Given the description of an element on the screen output the (x, y) to click on. 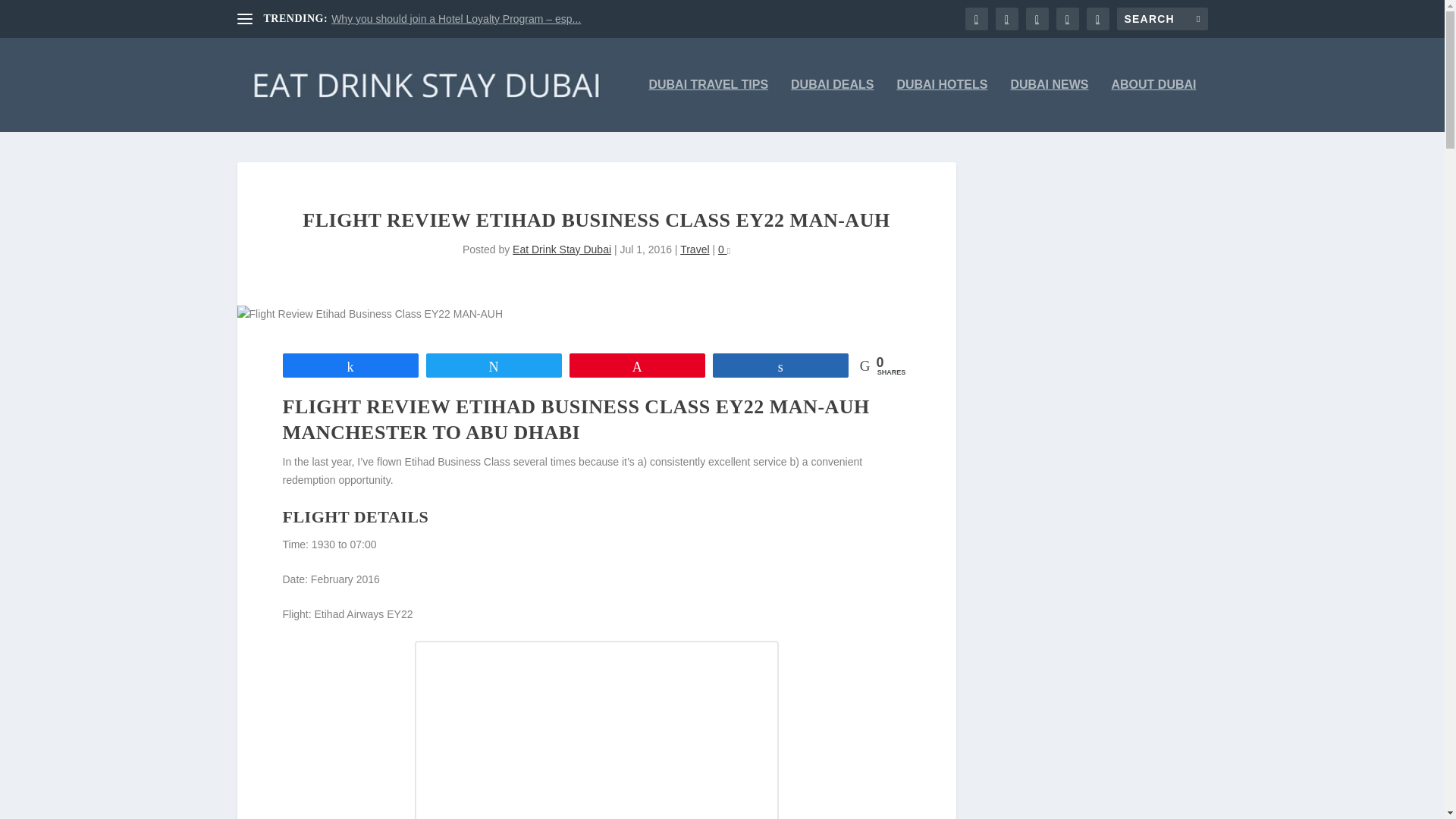
comment count (728, 251)
DUBAI NEWS (1048, 104)
Search for: (1161, 18)
DUBAI HOTELS (941, 104)
Eat Drink Stay Dubai (561, 249)
Posts by Eat Drink Stay Dubai (561, 249)
0 (723, 249)
DUBAI TRAVEL TIPS (707, 104)
Travel (694, 249)
DUBAI DEALS (831, 104)
ABOUT DUBAI (1154, 104)
